Given the description of an element on the screen output the (x, y) to click on. 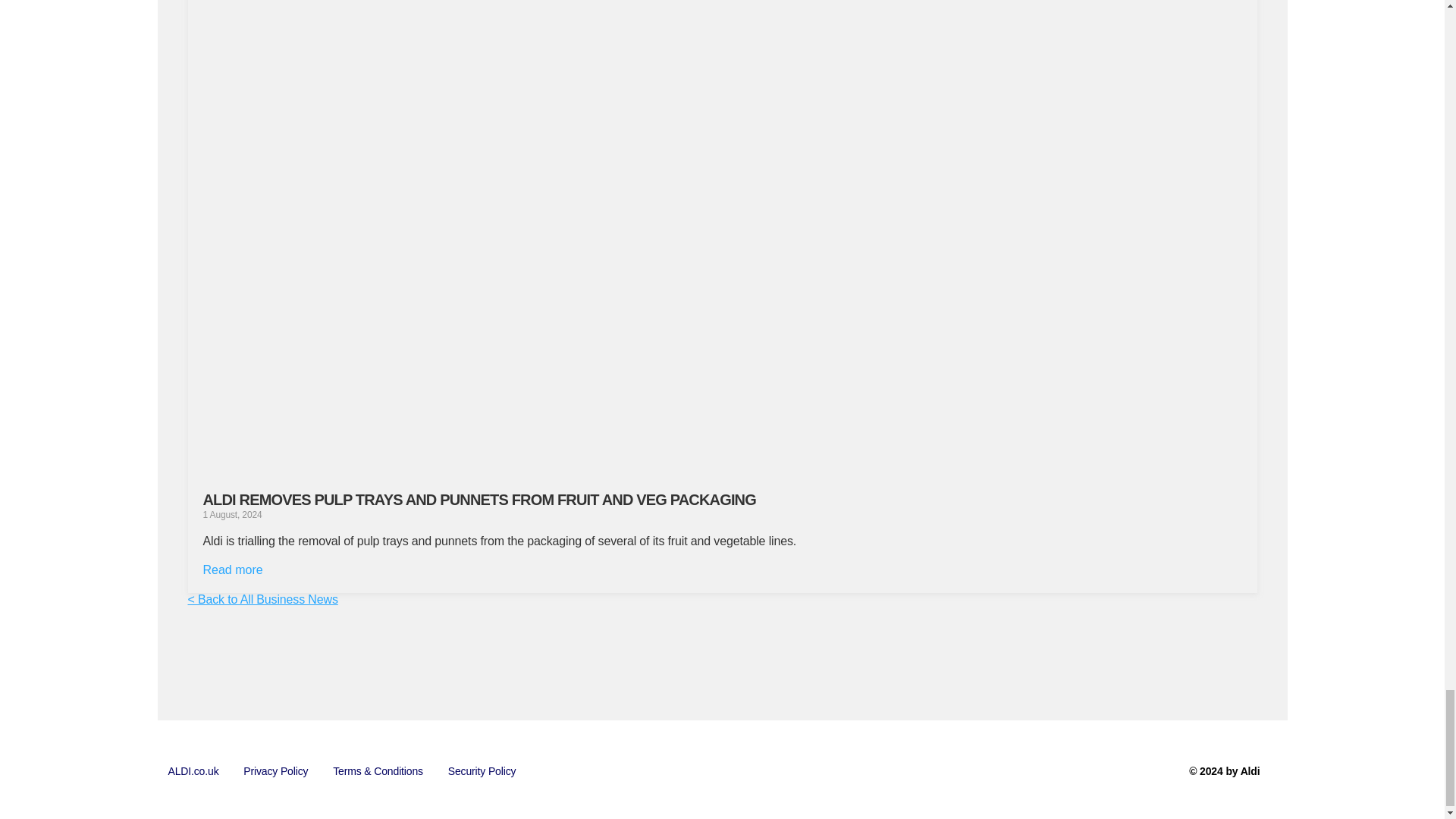
ALDI.co.uk (193, 771)
Security Policy (482, 771)
Privacy Policy (275, 771)
